Given the description of an element on the screen output the (x, y) to click on. 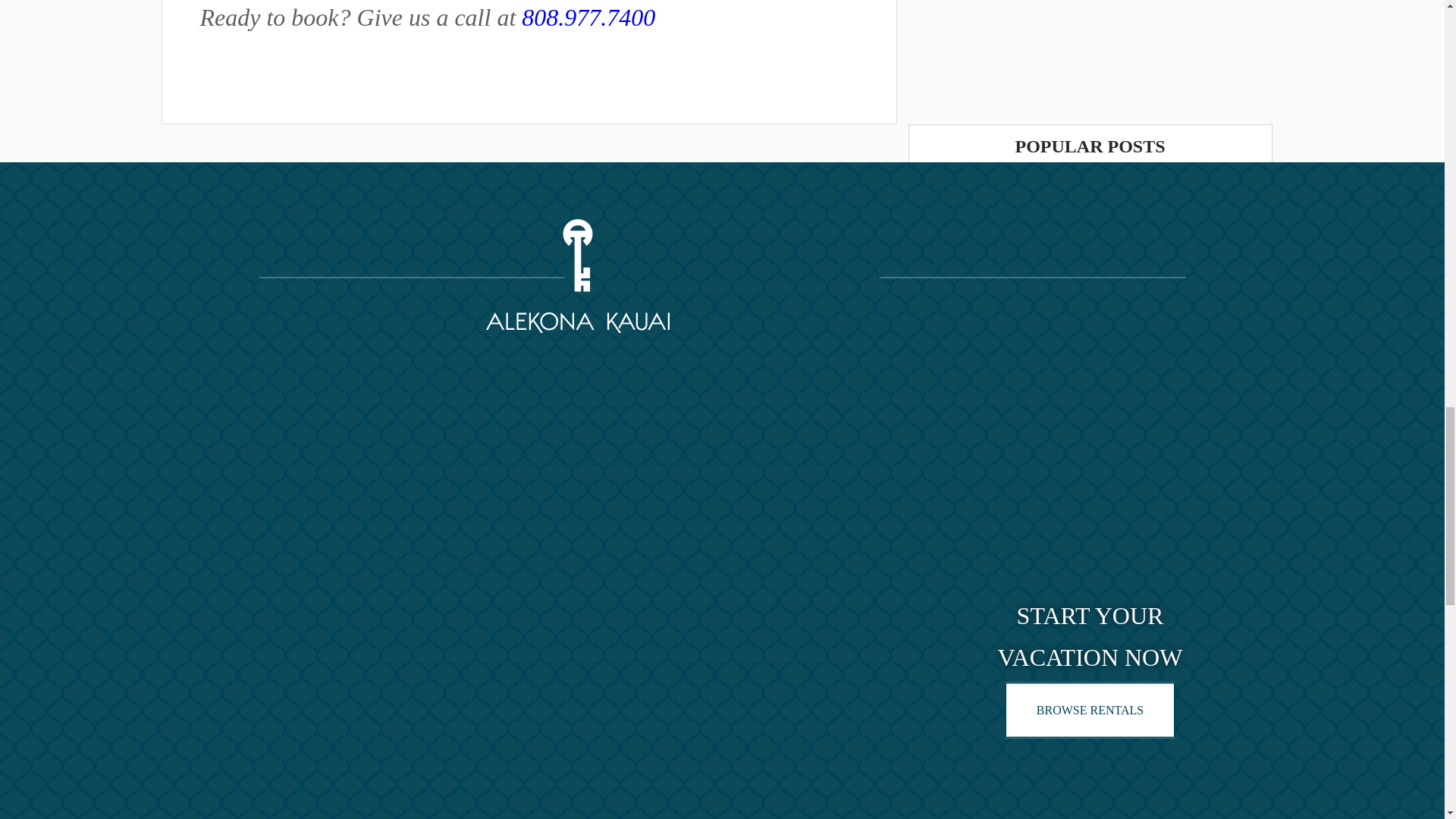
Where Locals Eat on Kauai (964, 214)
How to Visit Haena State Park and Kalalau (1181, 391)
Where Locals Eat on Kauai (1090, 642)
808.977.7400 (1125, 208)
How to Visit Haena State Park and Kalalau (588, 17)
